Given the description of an element on the screen output the (x, y) to click on. 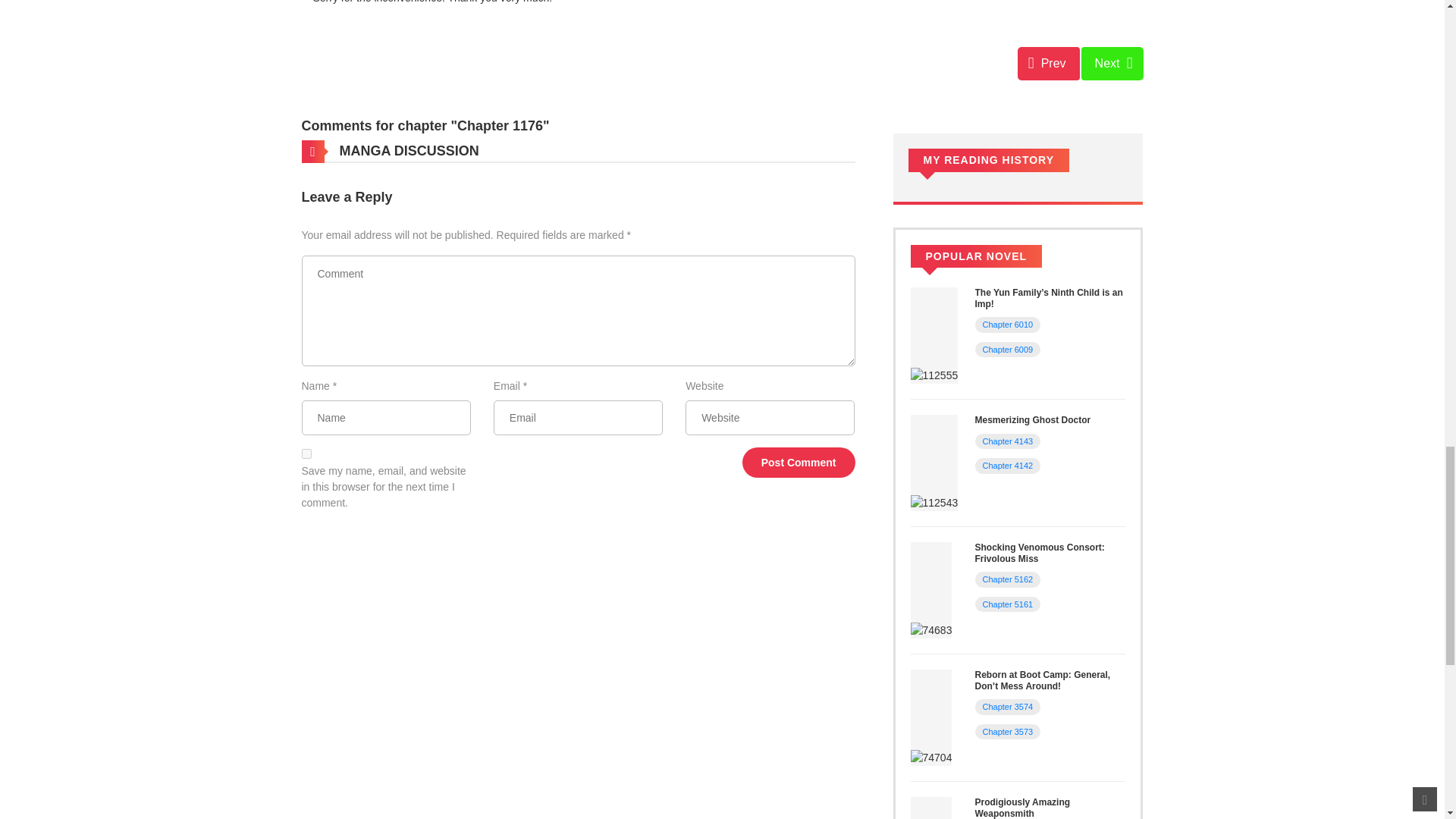
Mesmerizing Ghost Doctor (1032, 419)
10 hours ago (1065, 438)
Prev (1048, 63)
Post Comment (799, 462)
Chapter 1175 (1048, 63)
Post Comment (799, 462)
Chapter 6010 (1007, 324)
yes (306, 453)
10 hours ago (1065, 321)
10 hours ago (1065, 346)
Mesmerizing Ghost Doctor (934, 462)
Next (1111, 63)
Chapter 1177 (1111, 63)
10 hours ago (1065, 462)
Chapter 6009 (1007, 348)
